Given the description of an element on the screen output the (x, y) to click on. 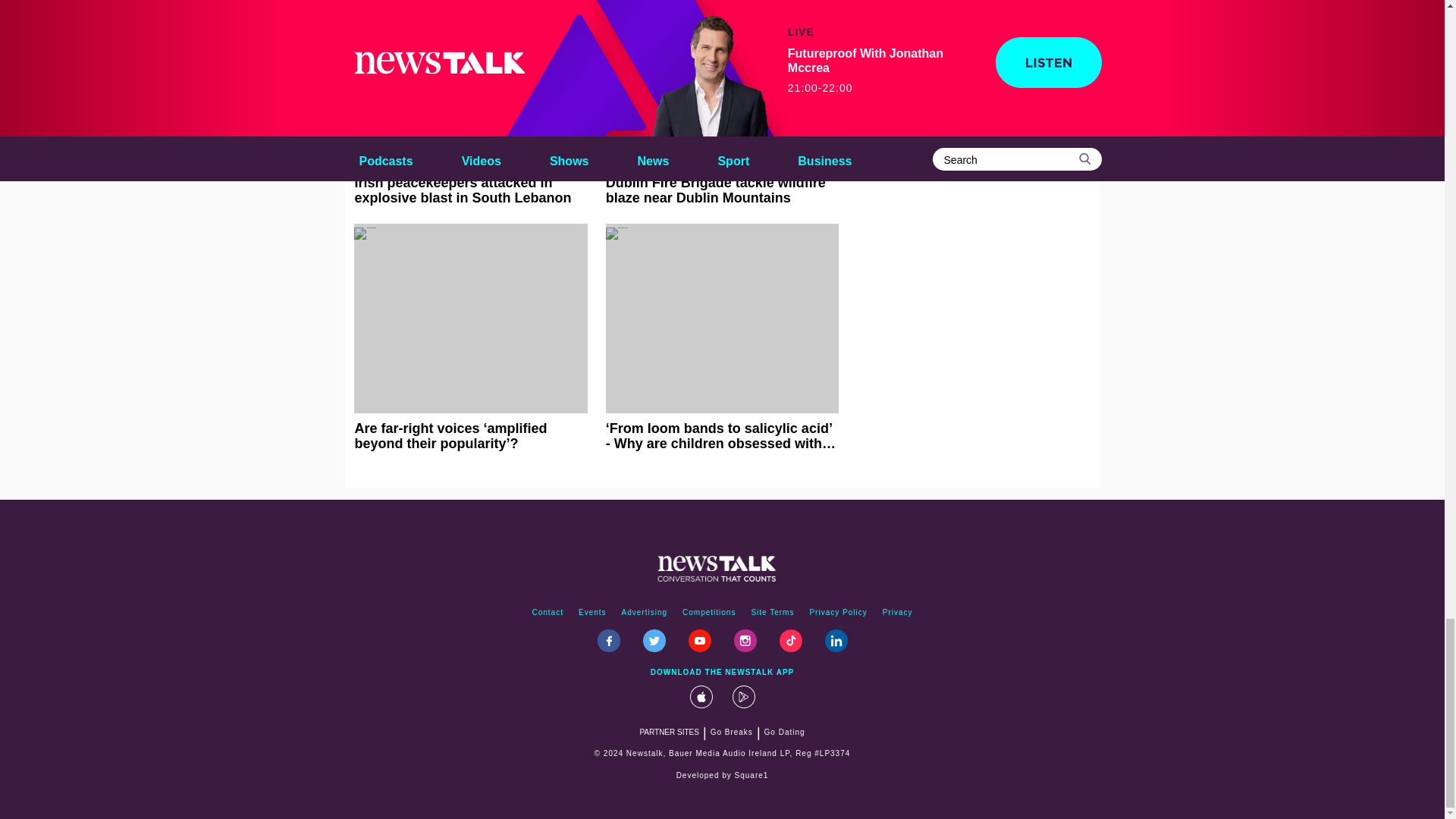
site terms (772, 612)
competitions (708, 612)
Privacy Policy (838, 612)
advertising (644, 612)
Privacy (897, 612)
contact (547, 612)
events (592, 612)
